Given the description of an element on the screen output the (x, y) to click on. 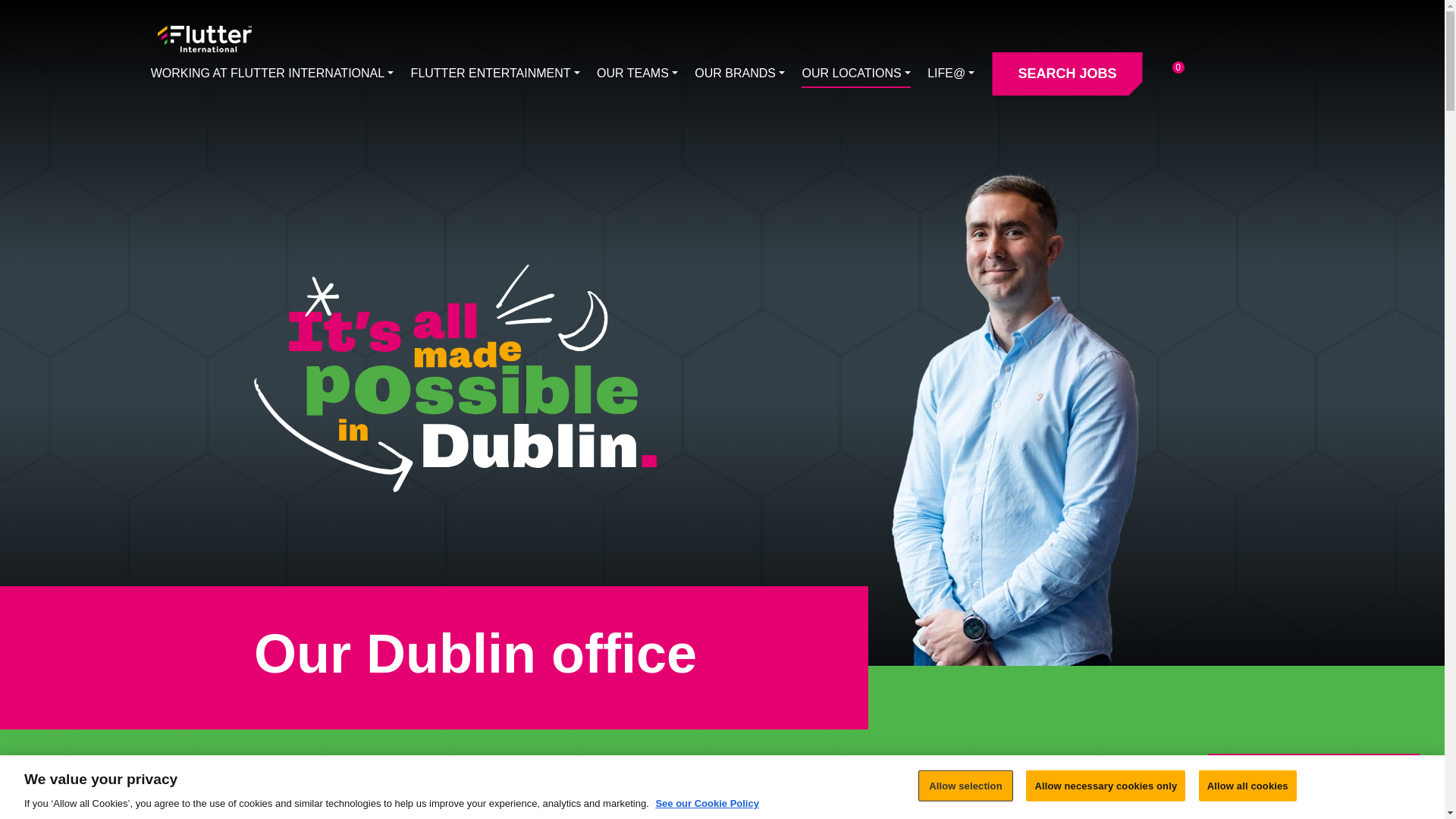
OUR BRANDS (739, 73)
OUR TEAMS (637, 73)
FLUTTER ENTERTAINMENT (494, 73)
WORKING AT FLUTTER INTERNATIONAL (272, 73)
OUR LOCATIONS (856, 73)
